Given the description of an element on the screen output the (x, y) to click on. 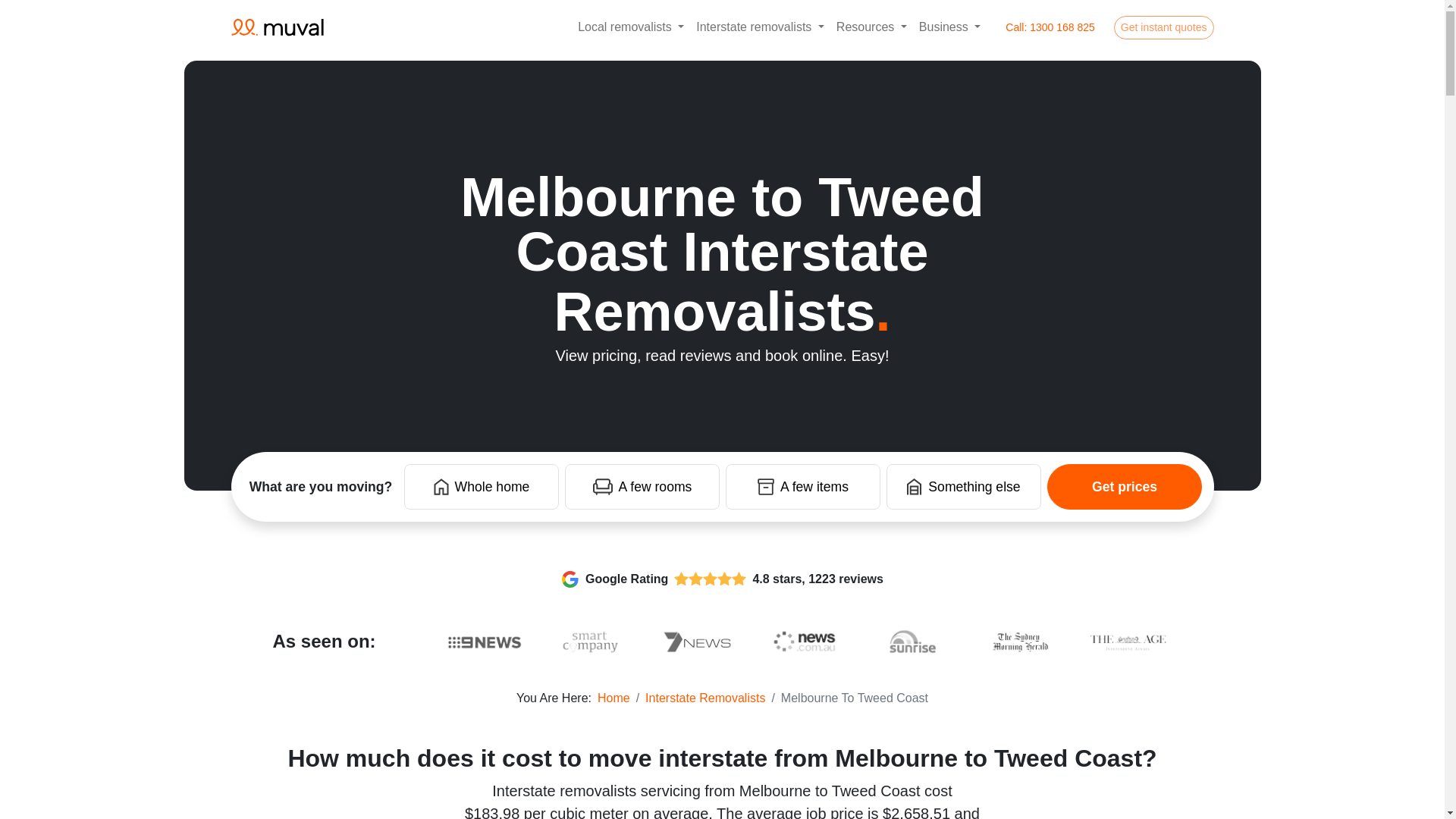
Resources (870, 27)
Get instant quotes (1163, 26)
Call: 1300 168 825 (1050, 26)
Interstate removalists (759, 27)
Business (949, 27)
Local removalists (631, 27)
Local removalists (631, 27)
Interstate removalists (759, 27)
